Given the description of an element on the screen output the (x, y) to click on. 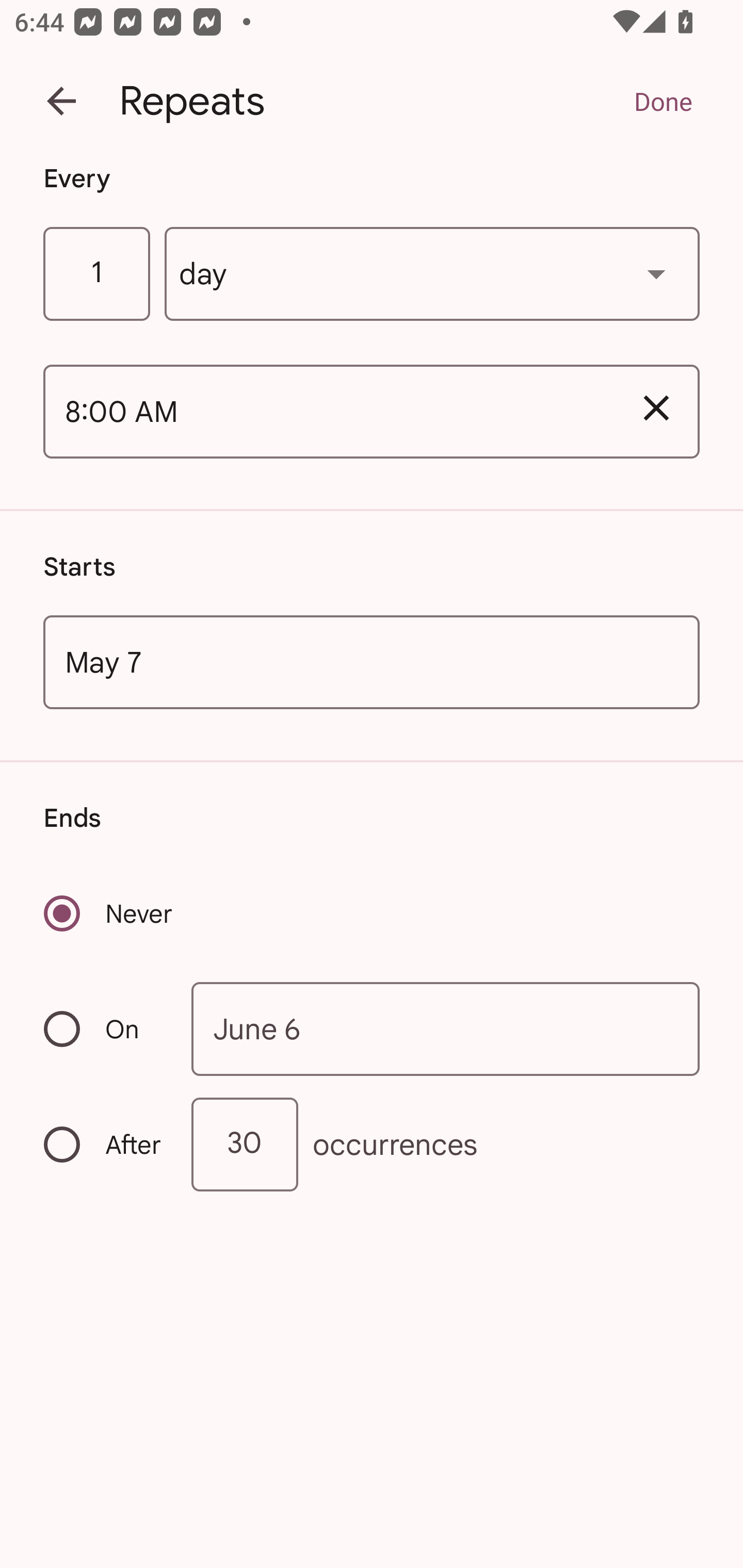
Back (61, 101)
Done (663, 101)
1 (96, 274)
day (431, 274)
Show dropdown menu (655, 273)
8:00 AM (327, 411)
Remove 8:00 AM (655, 408)
May 7 (371, 661)
Never Recurrence never ends (109, 913)
June 6 (445, 1028)
On Recurrence ends on a specific date (104, 1029)
30 (244, 1144)
